Given the description of an element on the screen output the (x, y) to click on. 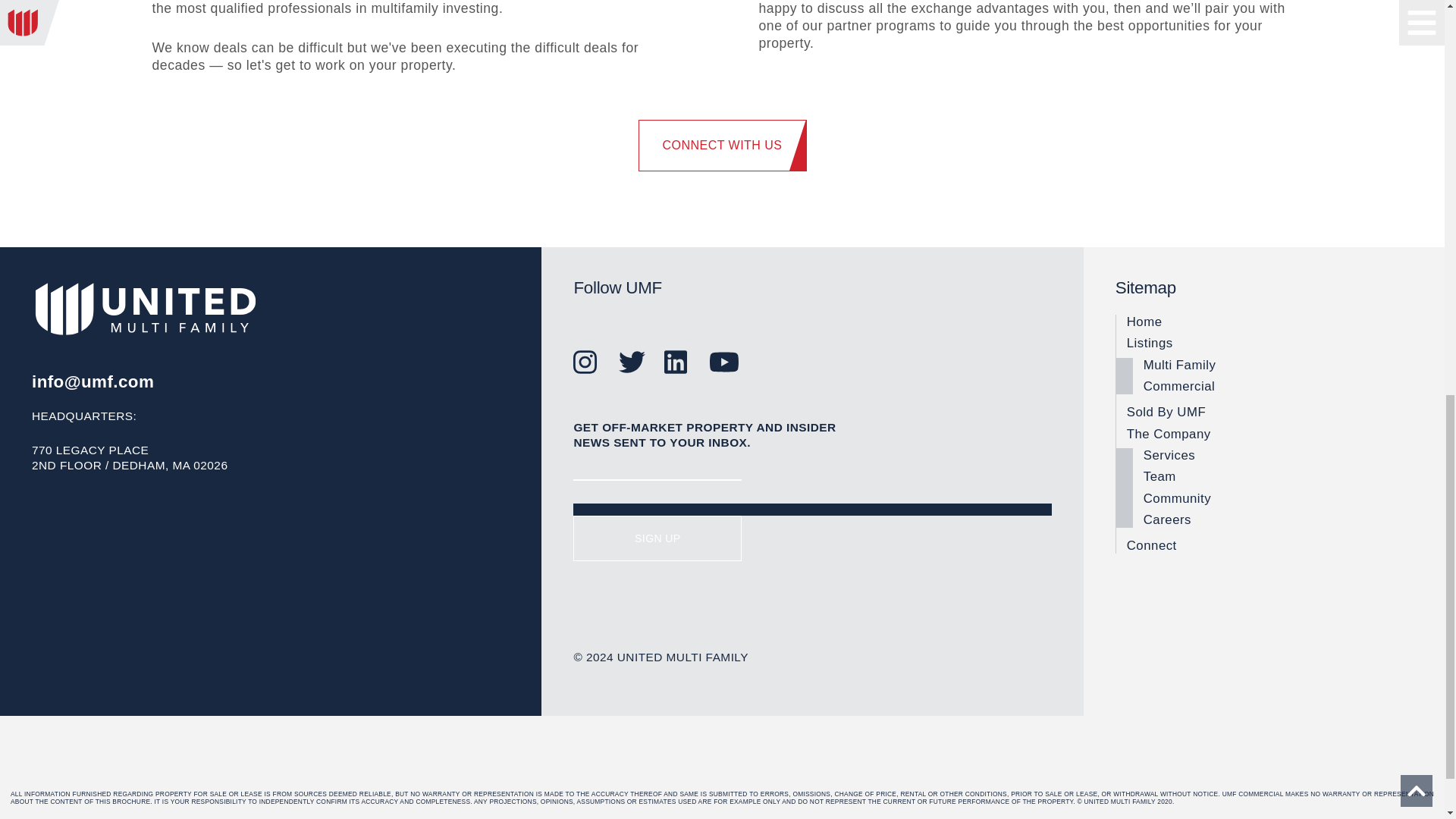
Sold By UMF (1269, 412)
The Company (1269, 434)
CONNECT WITH US (722, 145)
SIGN UP (657, 538)
Listings (1269, 343)
Multi Family (1277, 365)
Connect (1269, 545)
Services (1277, 455)
Careers (1277, 519)
Community (1277, 498)
Home (1269, 322)
Team (1277, 476)
Commercial (1277, 386)
